Given the description of an element on the screen output the (x, y) to click on. 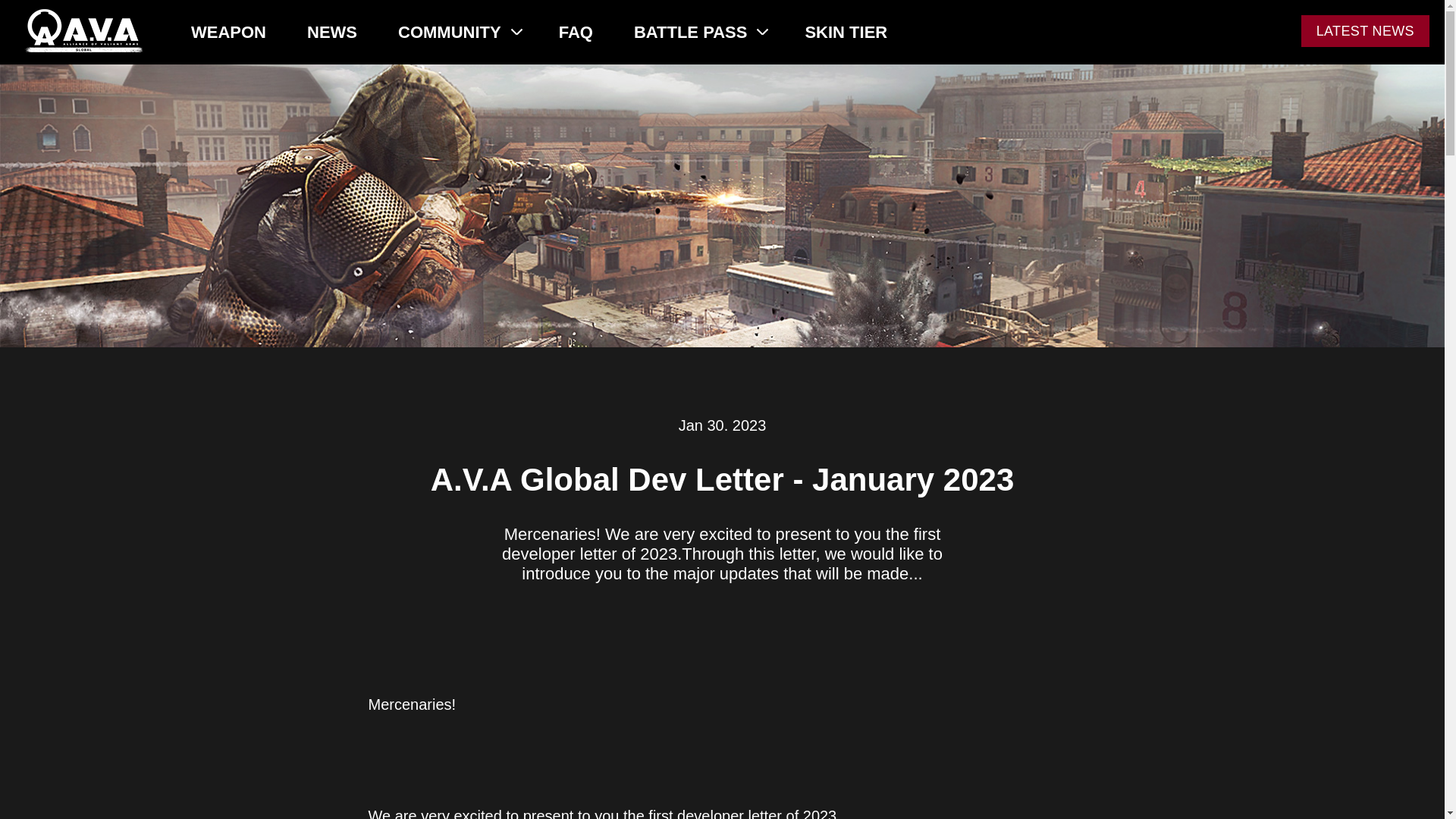
LATEST NEWS (1365, 30)
A.V.A : ALLIANCE OF VALIANT ARMS (84, 30)
SKIN TIER (845, 32)
WEAPON (228, 32)
